Given the description of an element on the screen output the (x, y) to click on. 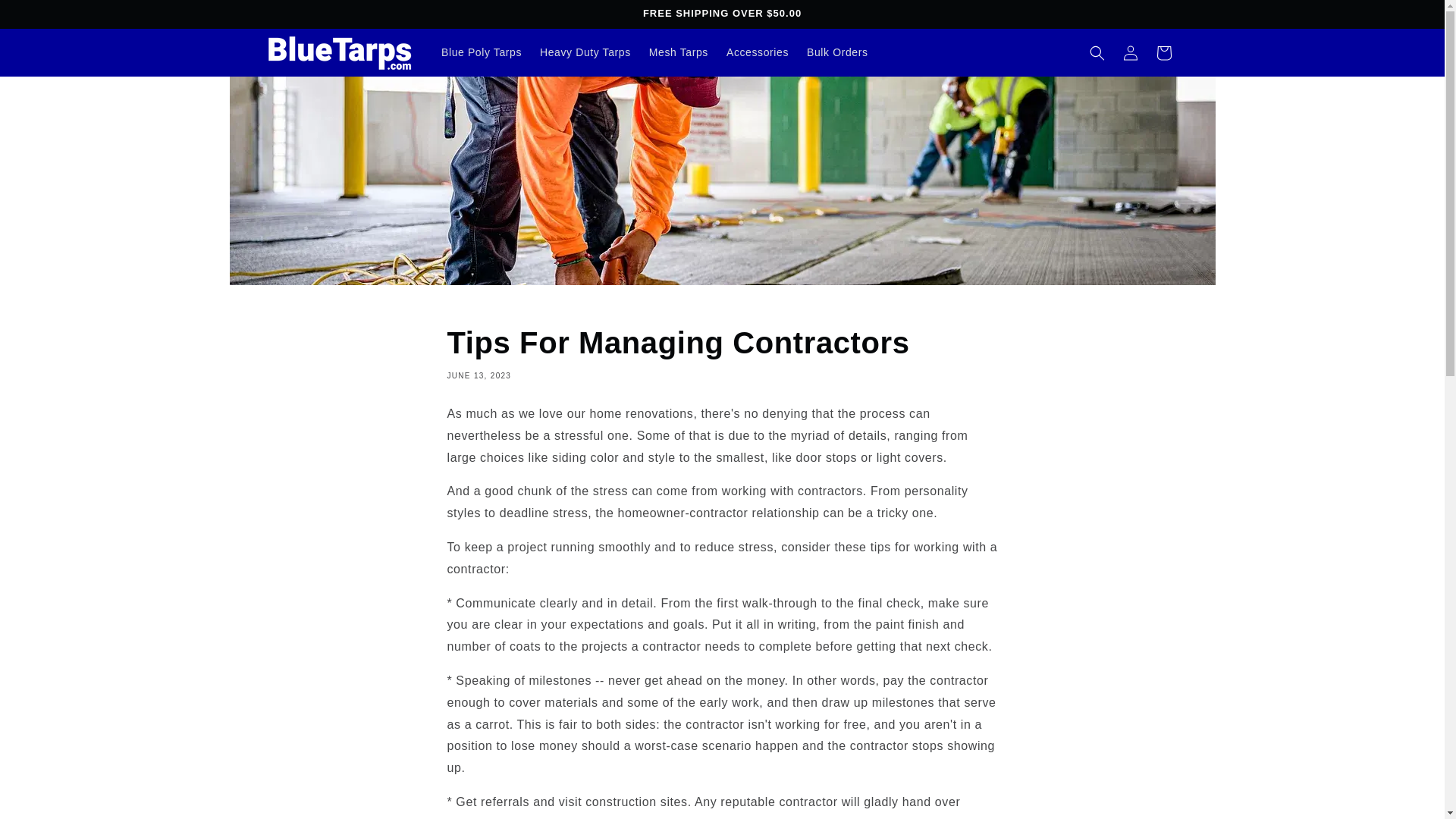
Log in (1130, 52)
Accessories (757, 51)
Skip to content (45, 17)
Mesh Tarps (678, 51)
Cart (1163, 52)
Heavy Duty Tarps (585, 51)
Bulk Orders (837, 51)
Blue Poly Tarps (481, 51)
